Given the description of an element on the screen output the (x, y) to click on. 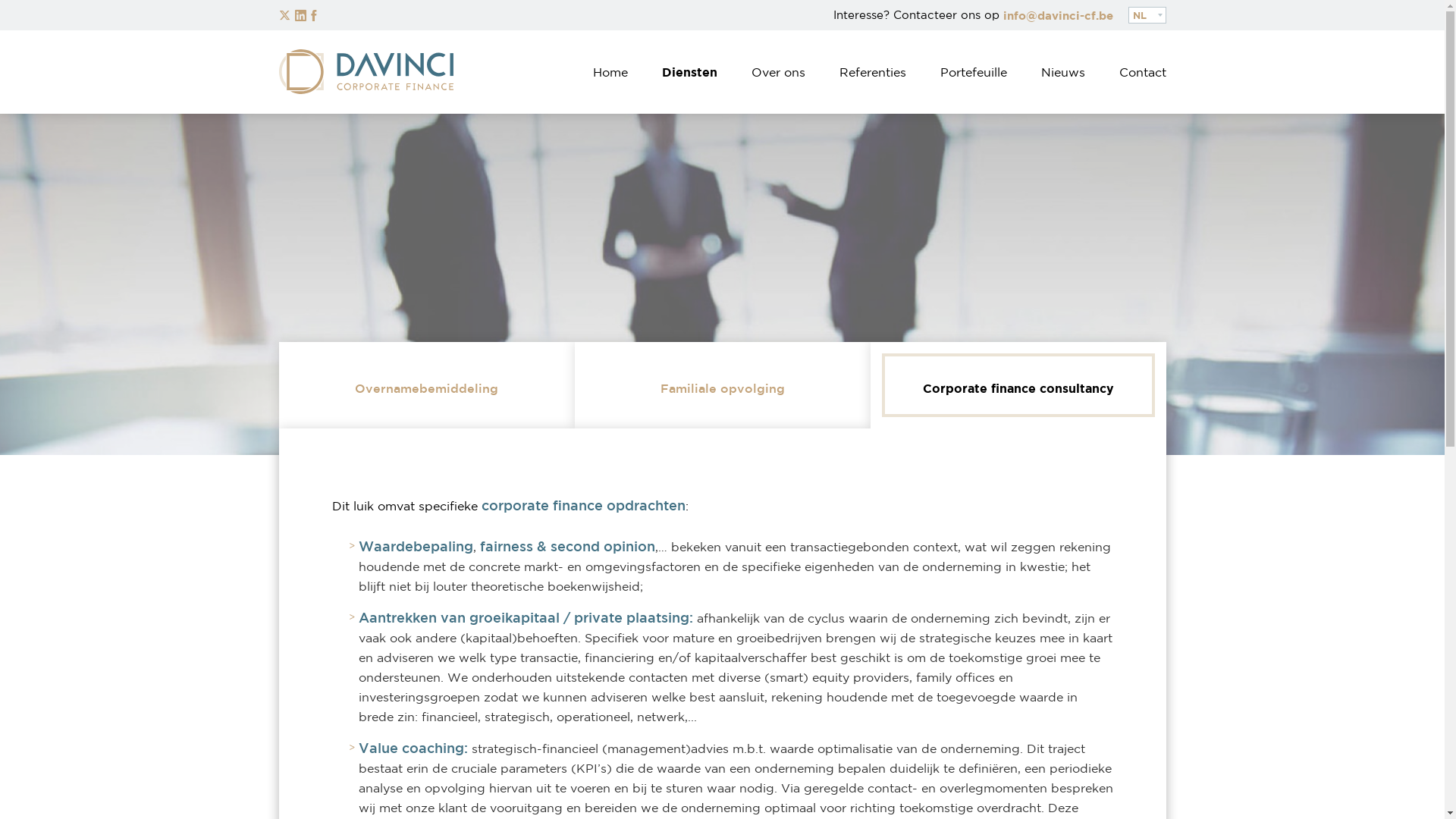
Overnamebemiddeling Element type: text (426, 385)
Portefeuille Element type: text (972, 71)
info@davinci-cf.be Element type: text (1057, 15)
Referenties Element type: text (872, 71)
Corporate finance consultancy Element type: text (1018, 385)
Diensten Element type: text (689, 71)
Over ons Element type: text (778, 71)
Home Element type: text (609, 71)
Contact Element type: text (1141, 71)
Familiale opvolging Element type: text (722, 385)
Nieuws Element type: text (1062, 71)
